Given the description of an element on the screen output the (x, y) to click on. 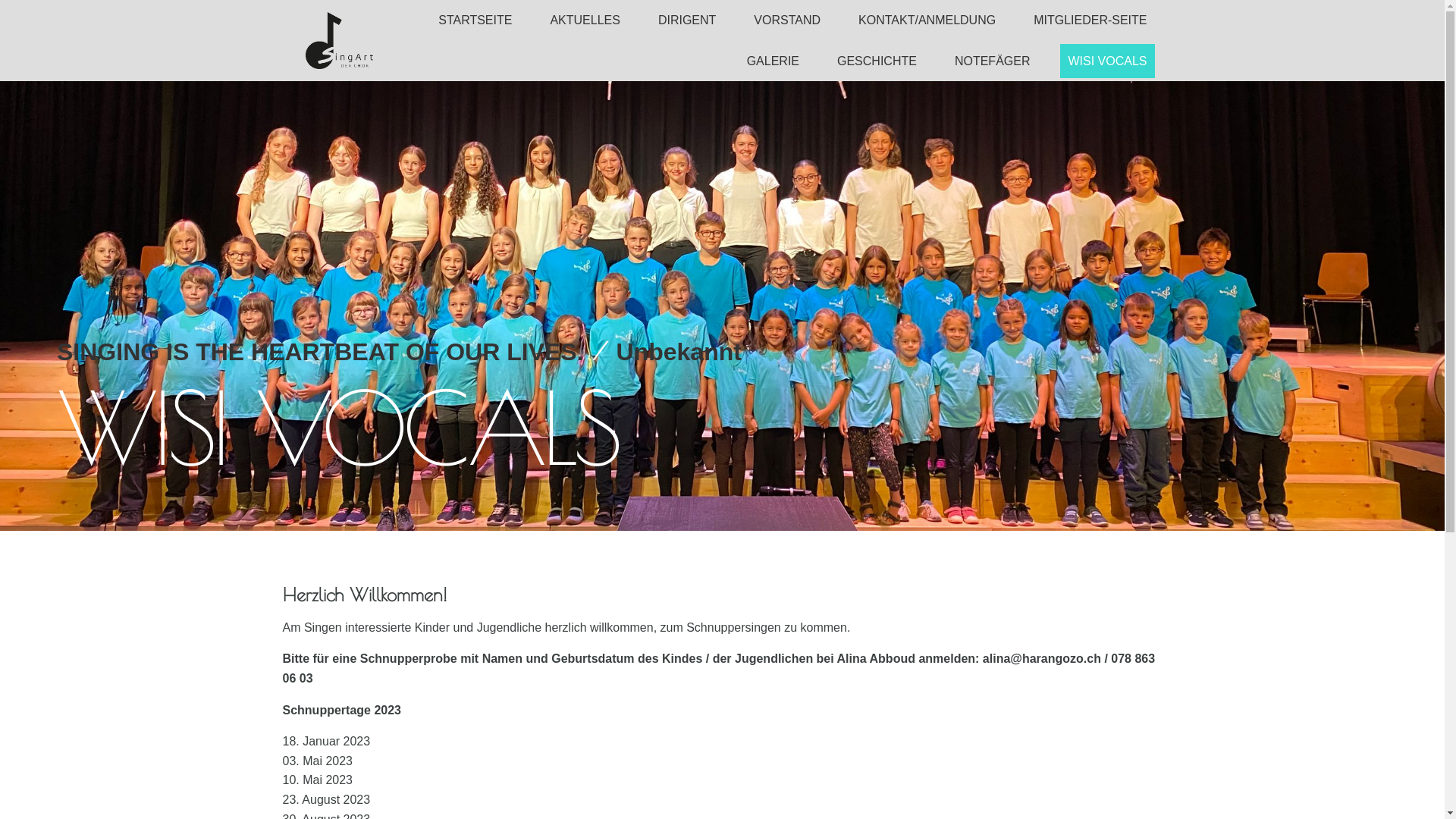
AKTUELLES Element type: text (584, 19)
VORSTAND Element type: text (786, 19)
DIRIGENT Element type: text (686, 19)
STARTSEITE Element type: text (474, 19)
MITGLIEDER-SEITE Element type: text (1089, 19)
GALERIE Element type: text (772, 60)
WISI VOCALS Element type: text (1106, 60)
GESCHICHTE Element type: text (876, 60)
KONTAKT/ANMELDUNG Element type: text (926, 19)
